Given the description of an element on the screen output the (x, y) to click on. 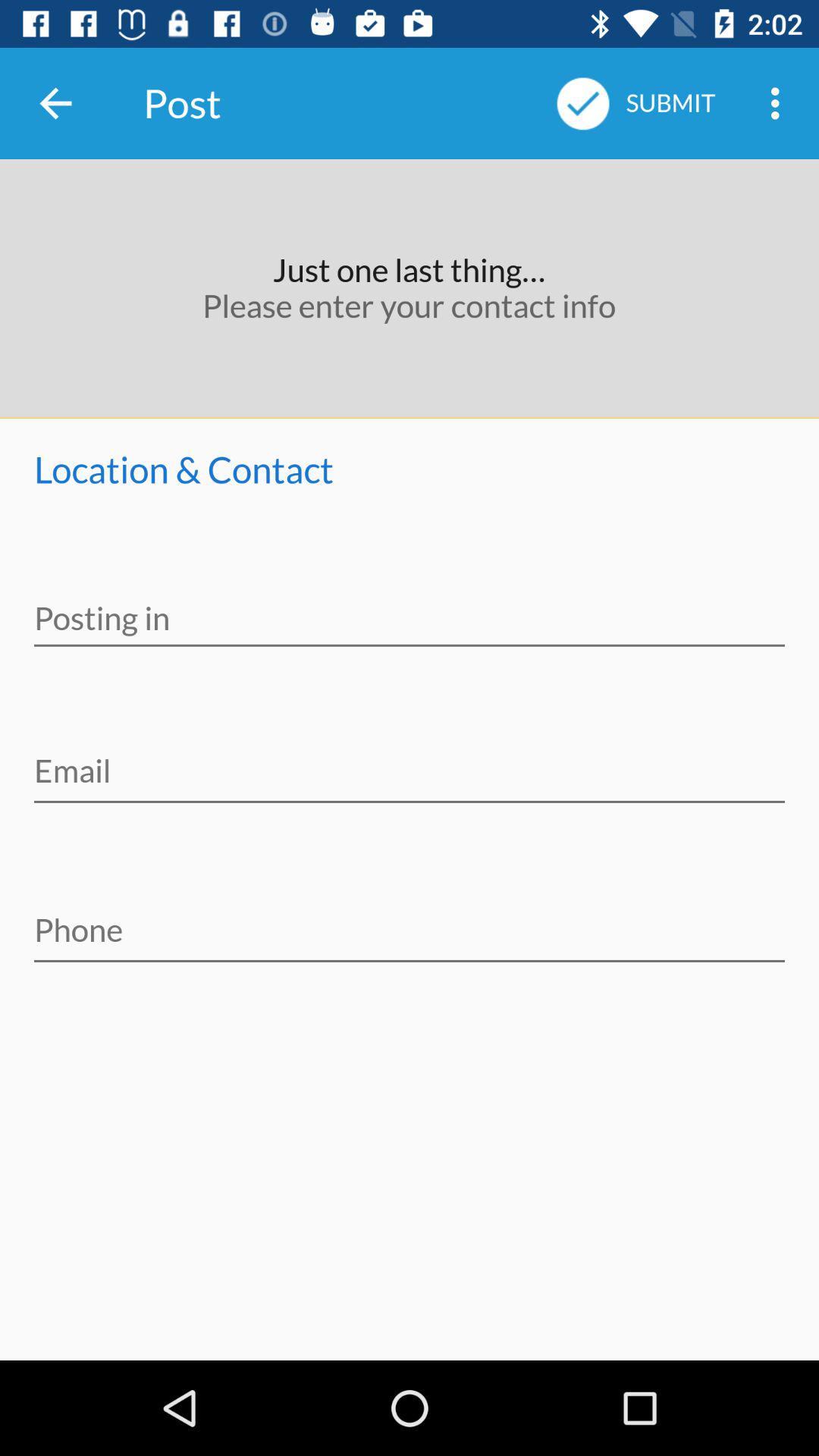
enter email address (409, 760)
